Given the description of an element on the screen output the (x, y) to click on. 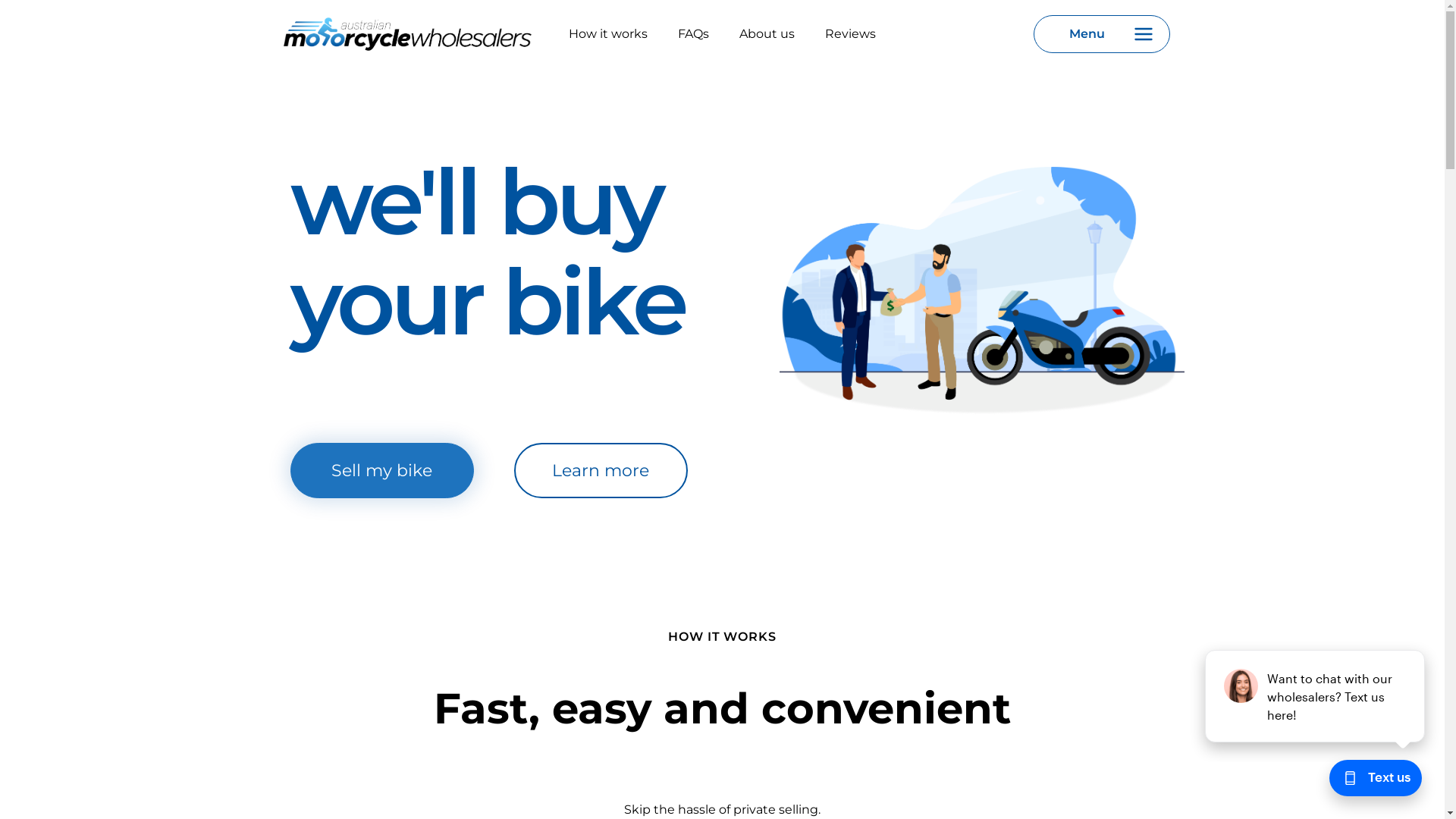
Menu Element type: text (1100, 34)
How it works Element type: text (607, 34)
podium webchat widget prompt Element type: hover (1315, 696)
Sell my bike Element type: text (381, 470)
FAQs Element type: text (693, 34)
About us Element type: text (766, 34)
Reviews Element type: text (850, 34)
Learn more Element type: text (601, 470)
